Given the description of an element on the screen output the (x, y) to click on. 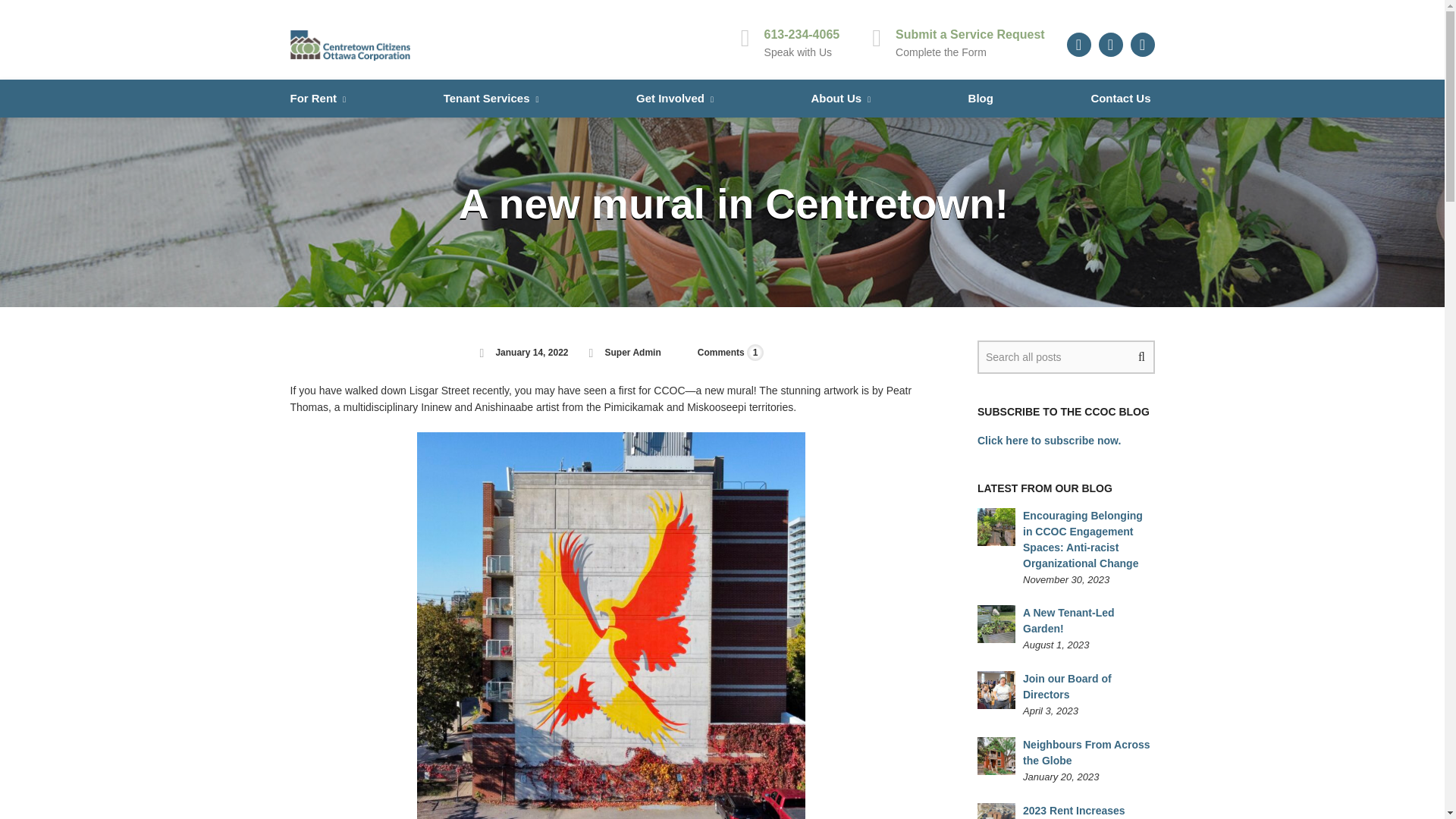
Get Involved (674, 98)
Tenant Services (491, 98)
613-234-4065 (802, 33)
About Us (840, 98)
Submit a Service Request (970, 33)
For Rent (317, 98)
Comments (720, 352)
Search for: (1065, 356)
